Given the description of an element on the screen output the (x, y) to click on. 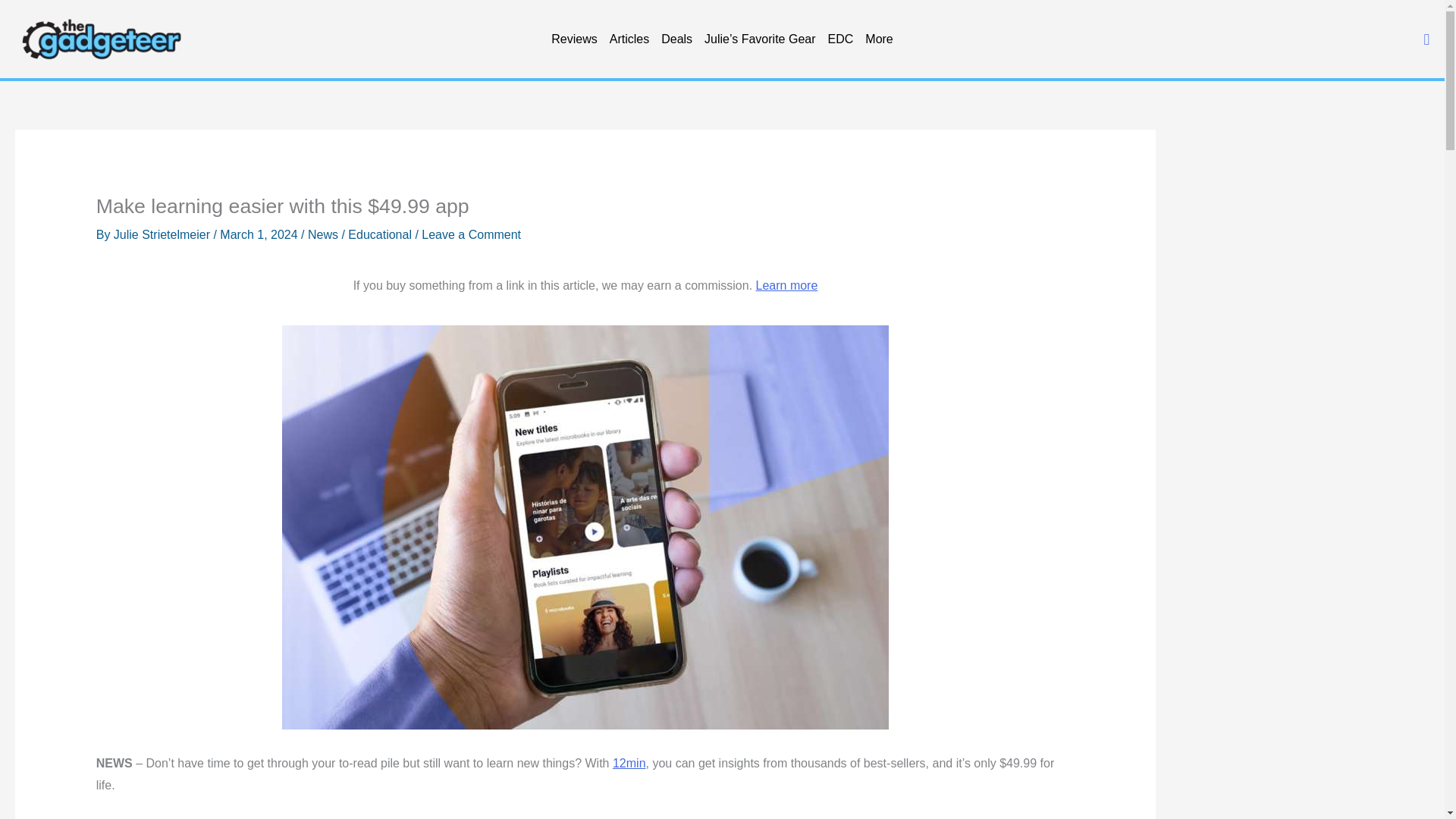
EDC (841, 39)
Deals (676, 39)
Reviews (573, 39)
Articles (629, 39)
View all posts by Julie Strietelmeier (163, 234)
More (878, 39)
